Given the description of an element on the screen output the (x, y) to click on. 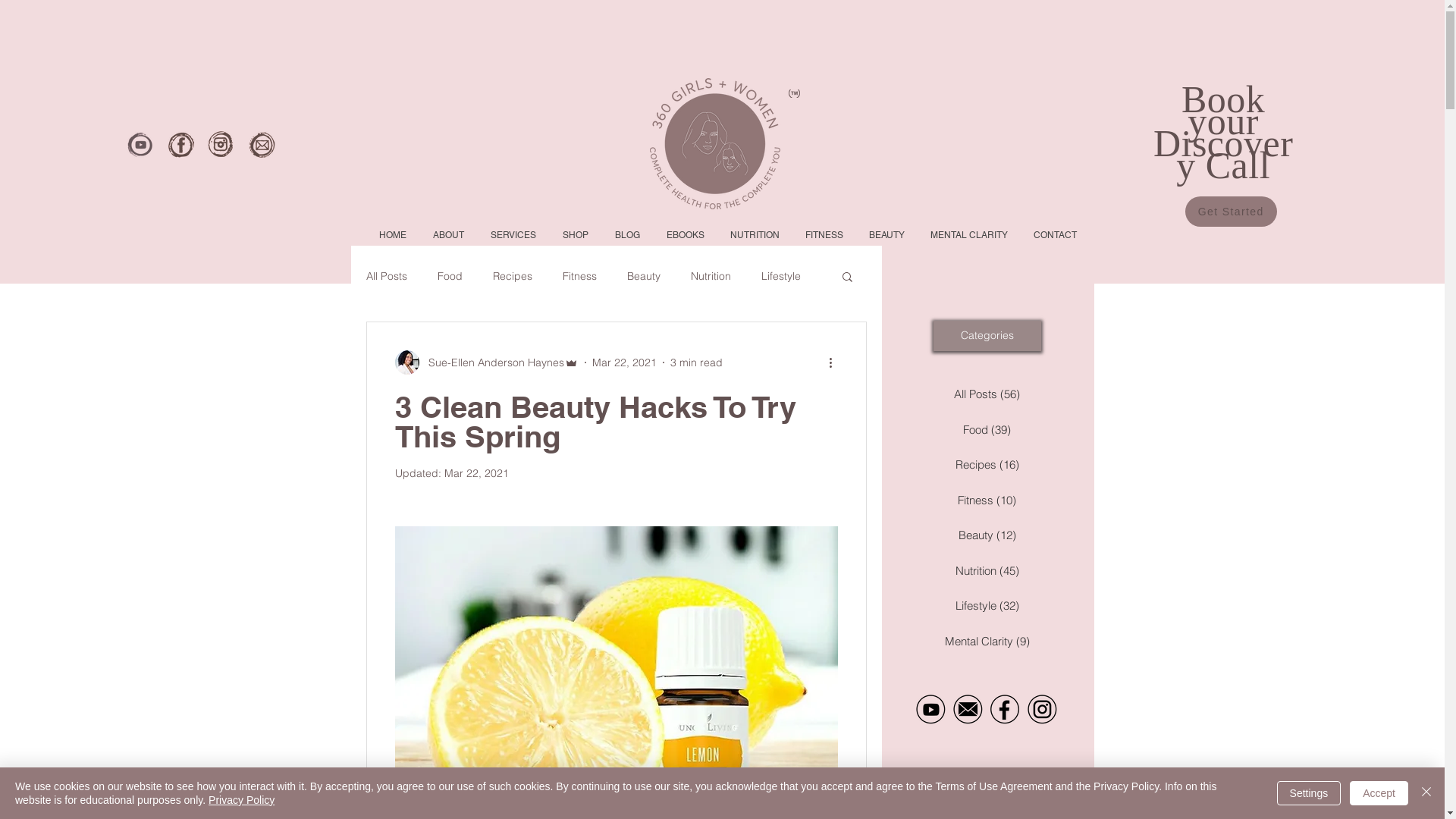
Settings Element type: text (1309, 793)
Beauty Element type: text (642, 275)
BEAUTY Element type: text (885, 235)
Fitness Element type: text (579, 275)
Recipes (16) Element type: text (987, 465)
Get Started Element type: text (1231, 211)
Nutrition Element type: text (710, 275)
All Posts Element type: text (385, 275)
EBOOKS Element type: text (684, 235)
Food (39) Element type: text (987, 430)
Mental Clarity (9) Element type: text (987, 640)
Food Element type: text (448, 275)
Back to Top Element type: text (1375, 788)
MENTAL CLARITY Element type: text (968, 235)
Lifestyle (32) Element type: text (987, 606)
BLOG Element type: text (626, 235)
All Posts (56) Element type: text (987, 394)
Privacy Policy Element type: text (241, 799)
Fitness (10) Element type: text (987, 499)
Nutrition (45) Element type: text (987, 571)
Sue-Ellen Anderson Haynes Element type: text (485, 362)
CONTACT Element type: text (1054, 235)
Accept Element type: text (1378, 793)
Lifestyle Element type: text (780, 275)
NUTRITION Element type: text (754, 235)
Recipes Element type: text (512, 275)
HOME Element type: text (391, 235)
FITNESS Element type: text (823, 235)
Categories Element type: text (986, 335)
Beauty (12) Element type: text (987, 535)
